Given the description of an element on the screen output the (x, y) to click on. 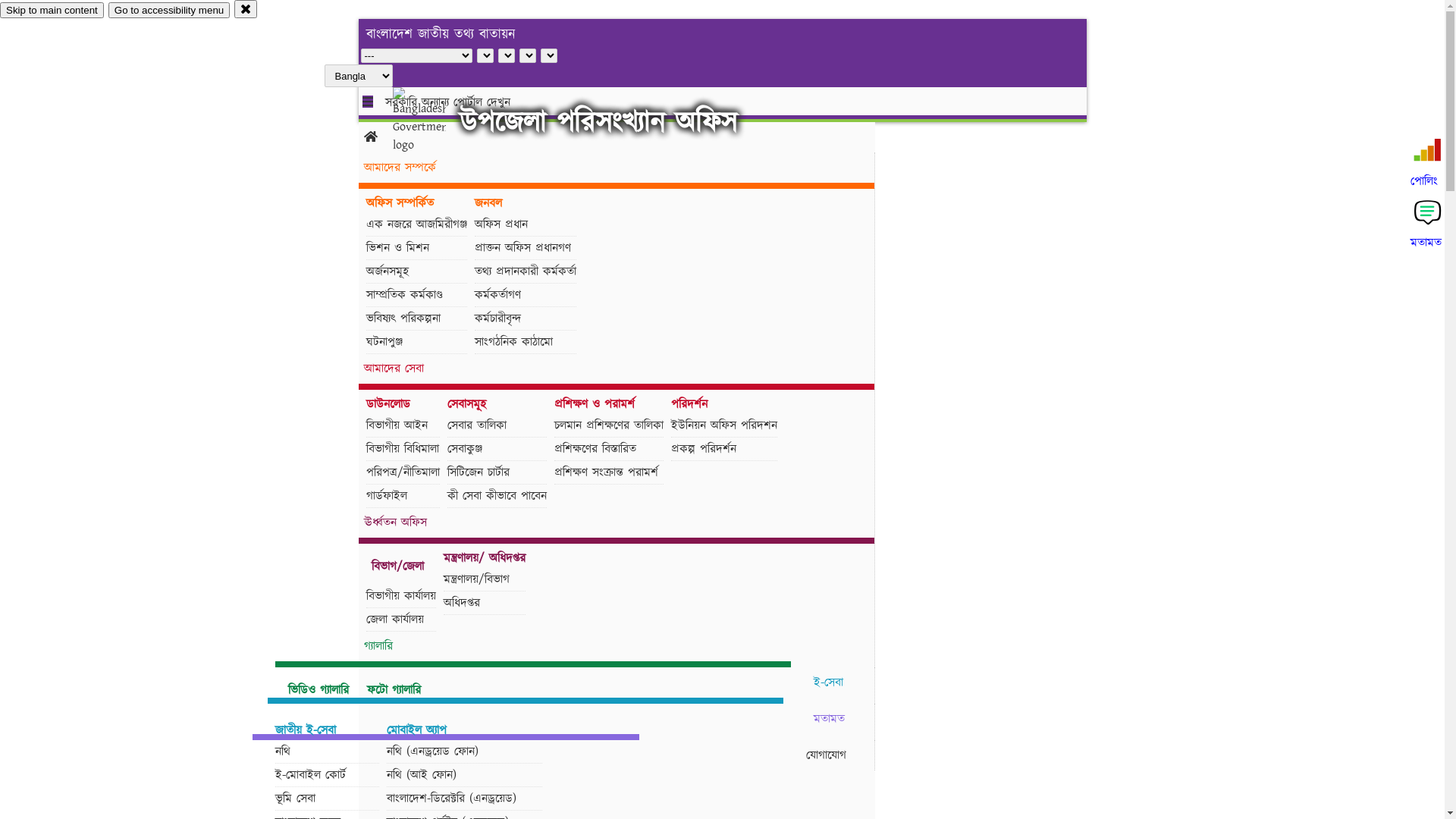

                
             Element type: hover (431, 120)
close Element type: hover (245, 9)
Go to accessibility menu Element type: text (168, 10)
Skip to main content Element type: text (51, 10)
